Given the description of an element on the screen output the (x, y) to click on. 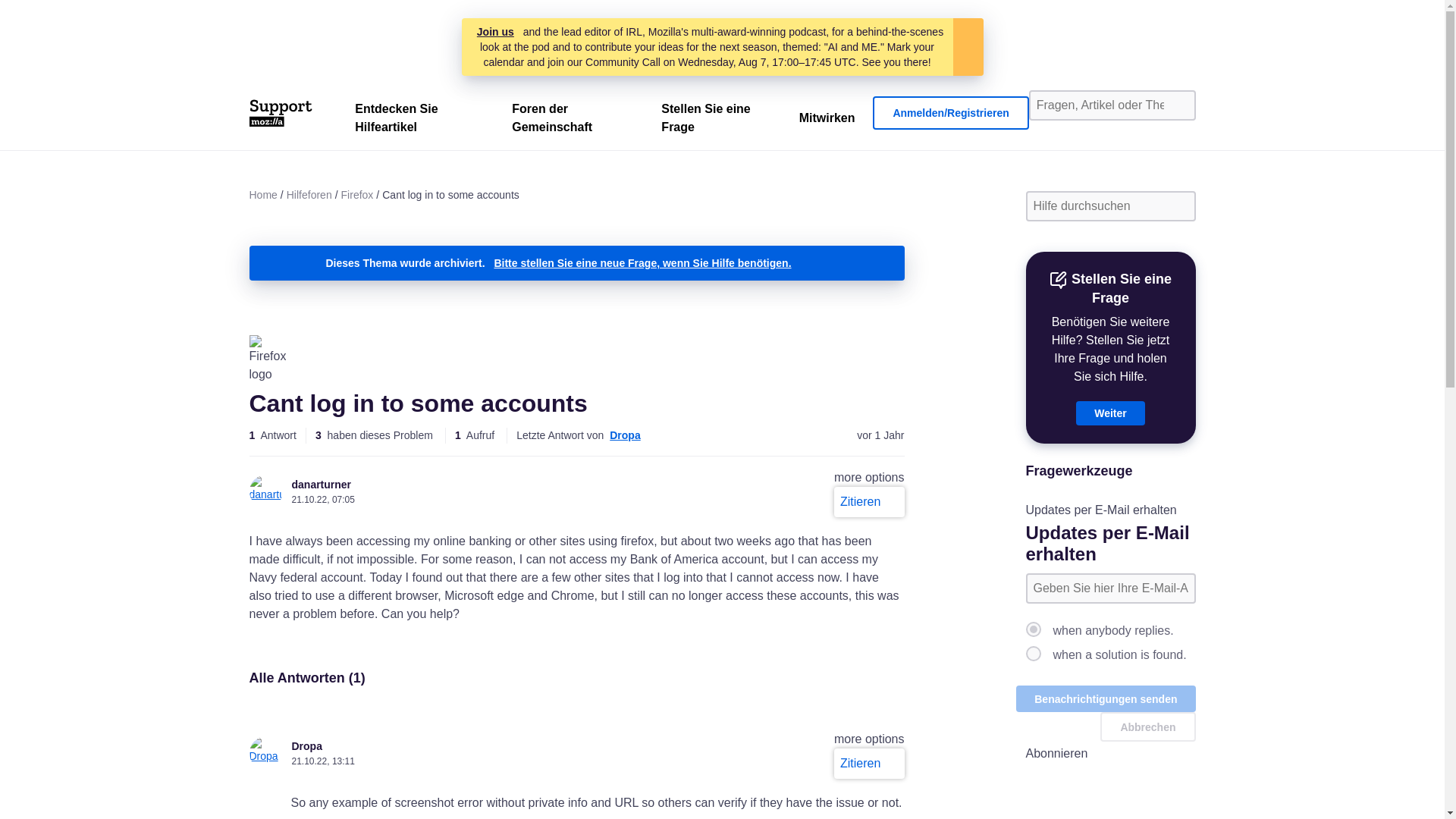
Stellen Sie eine Frage (711, 121)
Join us (495, 31)
Suche (1178, 206)
Benachrichtigungen senden (1105, 698)
Foren der Gemeinschaft (568, 121)
Suche (1178, 105)
Entdecken Sie Hilfeartikel (414, 121)
